Given the description of an element on the screen output the (x, y) to click on. 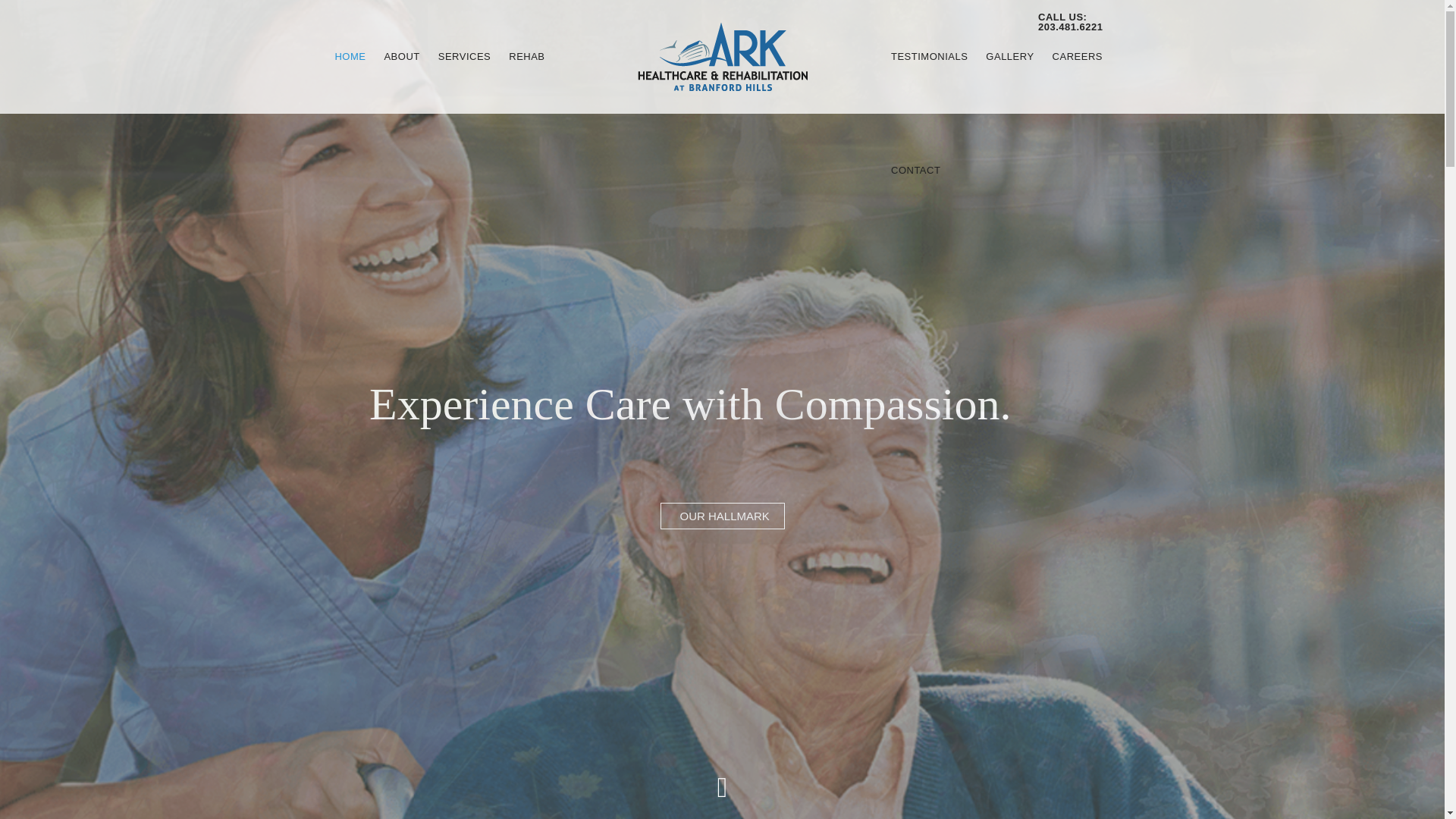
OUR HALLMARK (721, 515)
ABOUT (401, 56)
Gallery (1009, 56)
REHAB (526, 56)
HOME (349, 56)
Careers (1077, 56)
GALLERY (1009, 56)
Rehab (526, 56)
TESTIMONIALS (929, 56)
Contact (915, 170)
CONTACT (915, 170)
About (401, 56)
Testimonials (929, 56)
Services (464, 56)
Home (349, 56)
